Given the description of an element on the screen output the (x, y) to click on. 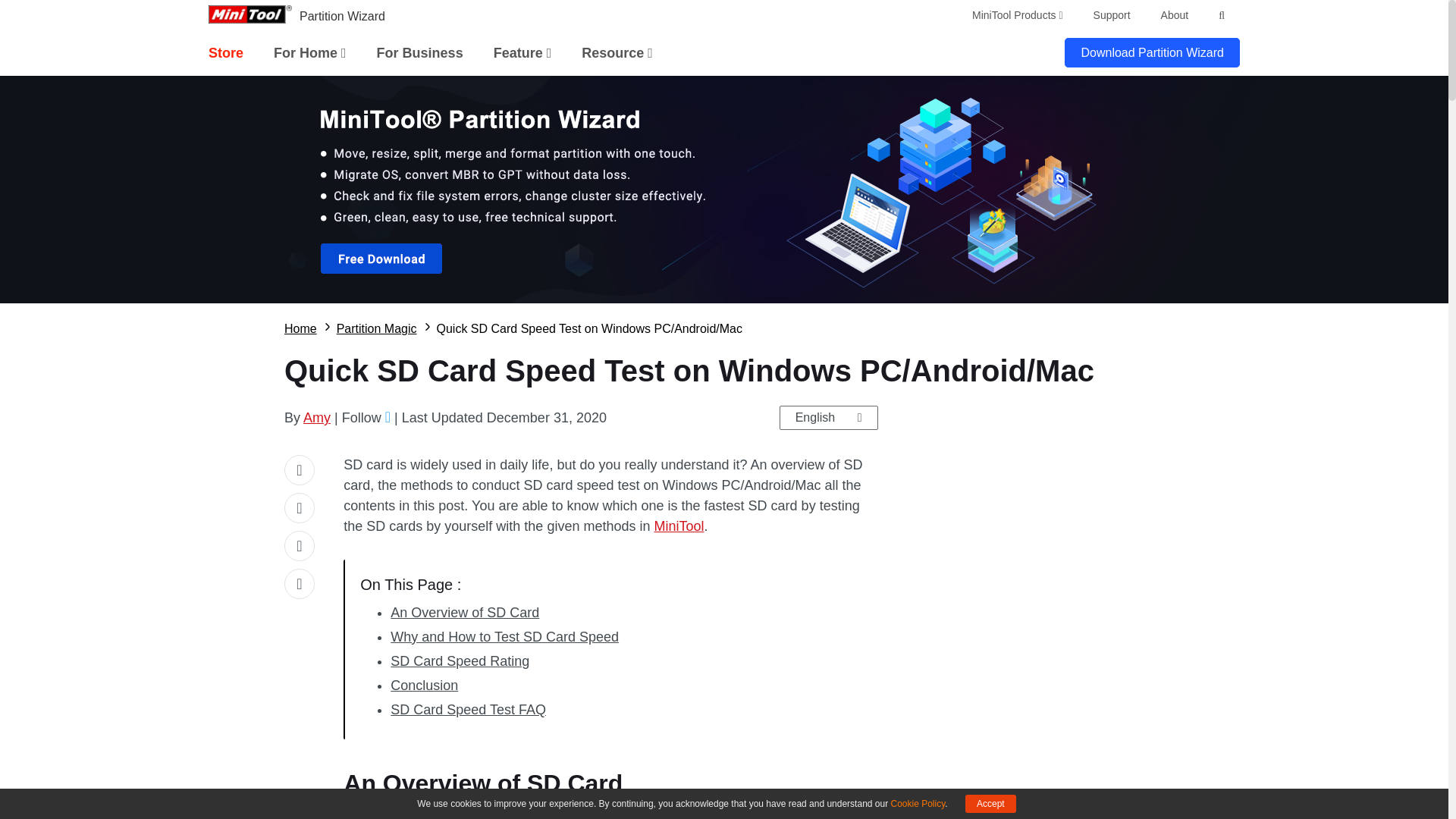
Amy (316, 417)
For Business (420, 52)
English (827, 417)
MiniTool Products (1017, 15)
For Home (309, 52)
Home (300, 328)
Resource (616, 52)
Feature (522, 52)
Partition Wizard (342, 15)
Support (1112, 15)
